Given the description of an element on the screen output the (x, y) to click on. 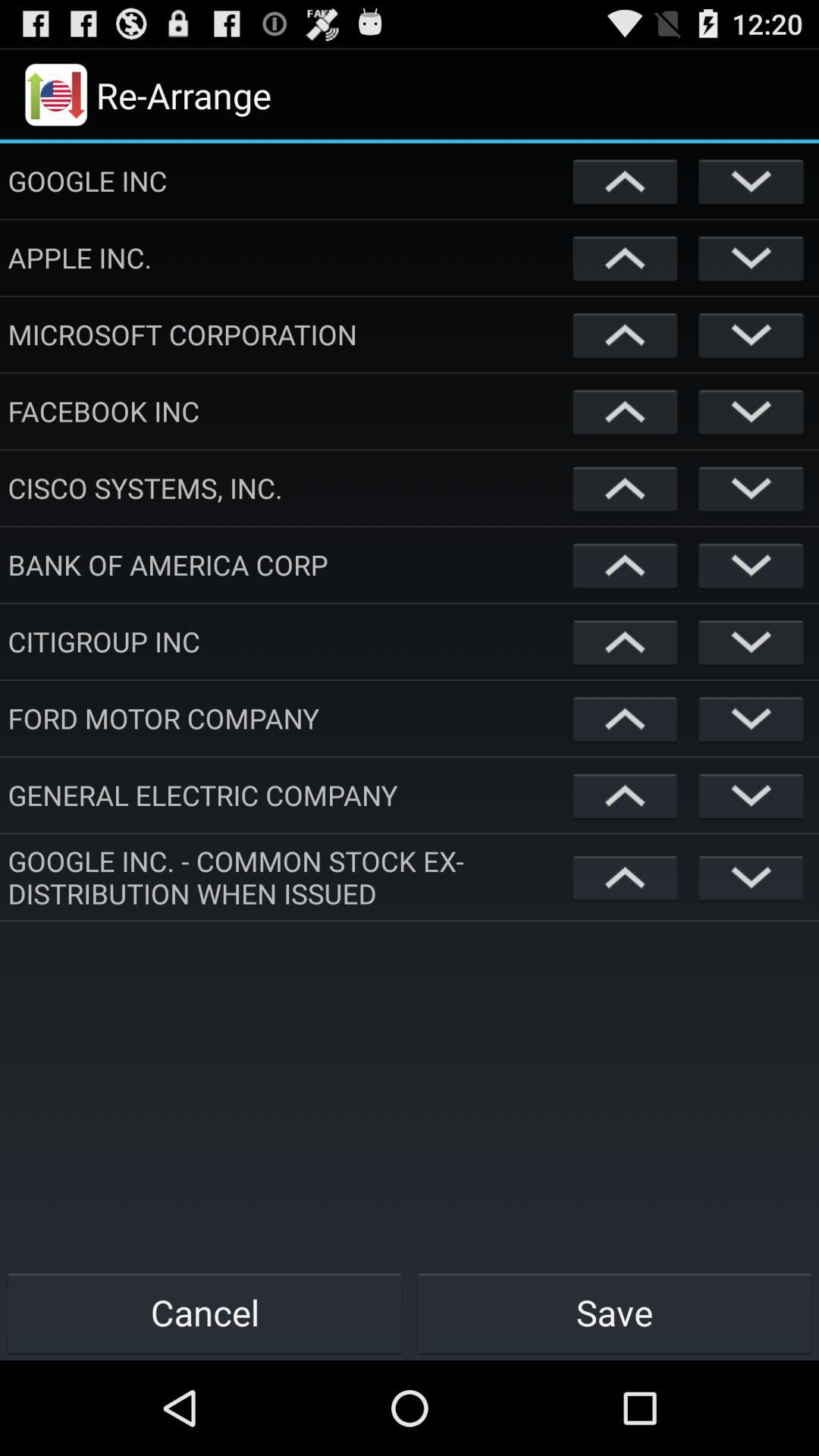
tap app above the google inc common app (286, 794)
